Given the description of an element on the screen output the (x, y) to click on. 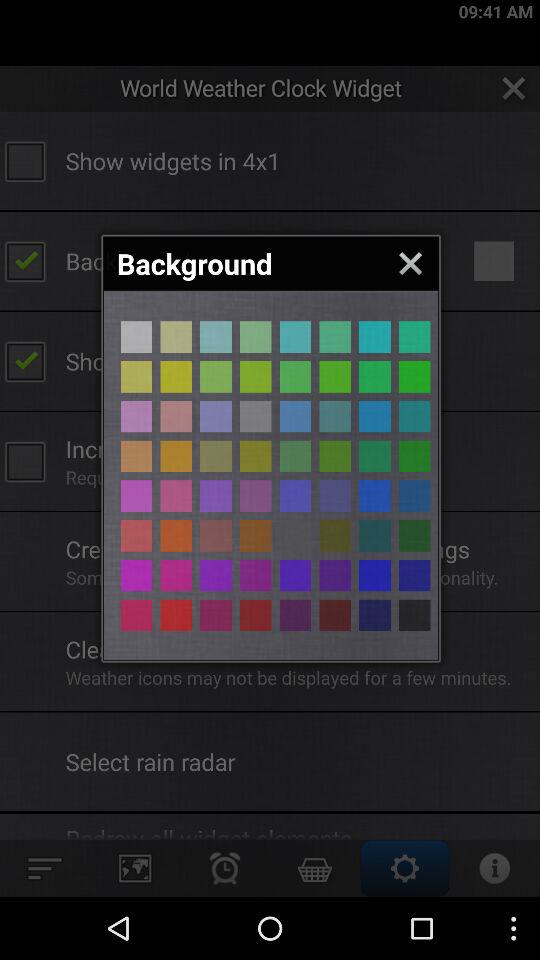
change background color to yellow (136, 376)
